Given the description of an element on the screen output the (x, y) to click on. 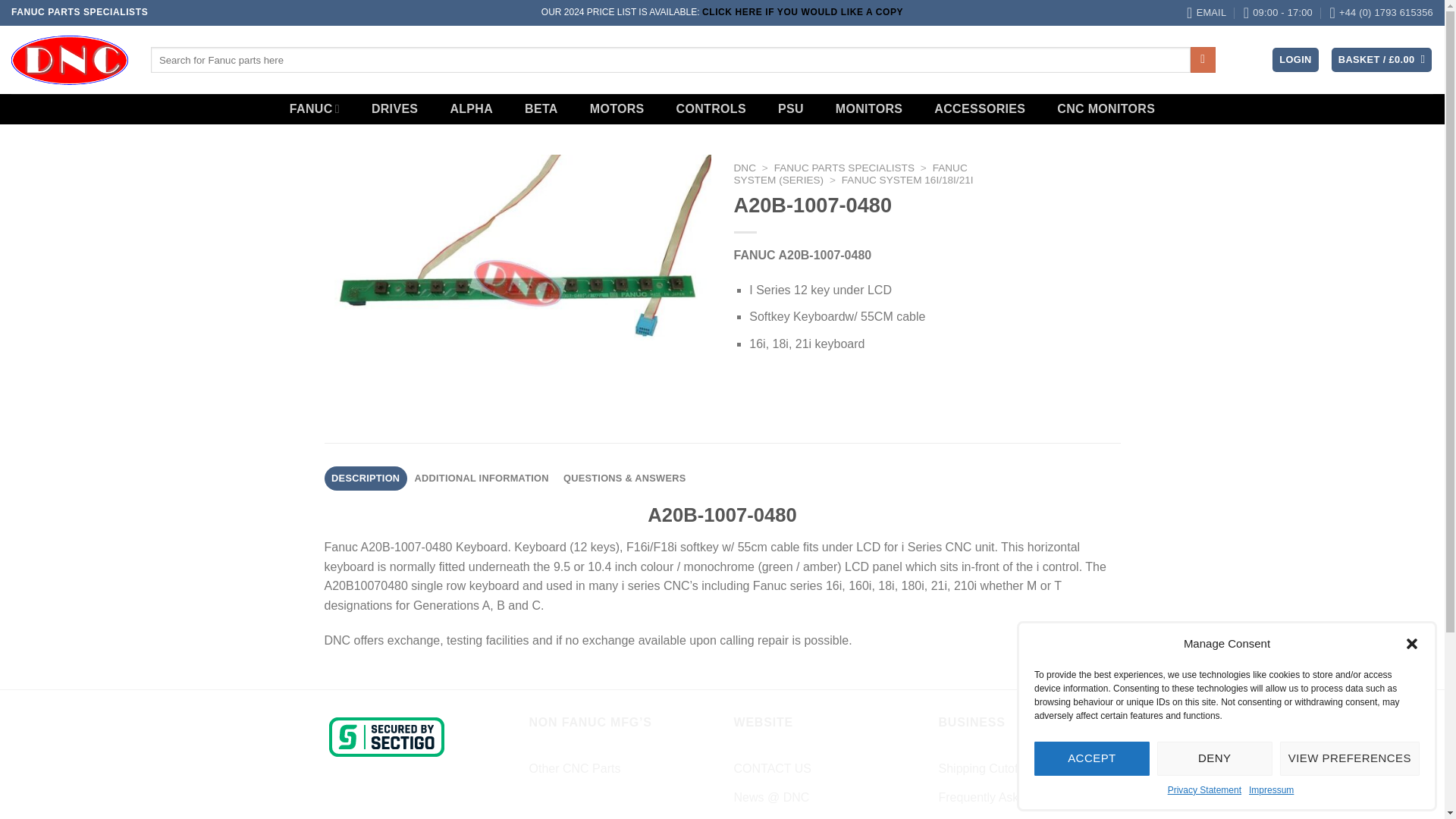
FANUC (315, 109)
LOGIN (1294, 59)
MONITORS (869, 109)
Login (1294, 59)
CONTROLS (710, 109)
Basket (1382, 59)
CNC MONITORS (1105, 109)
ALPHA (471, 109)
Privacy Statement (1204, 789)
DENY (1214, 758)
ACCESSORIES (978, 109)
VIEW PREFERENCES (1349, 758)
09:00 - 17:00 (1278, 12)
DRIVES (395, 109)
Search (1203, 59)
